Given the description of an element on the screen output the (x, y) to click on. 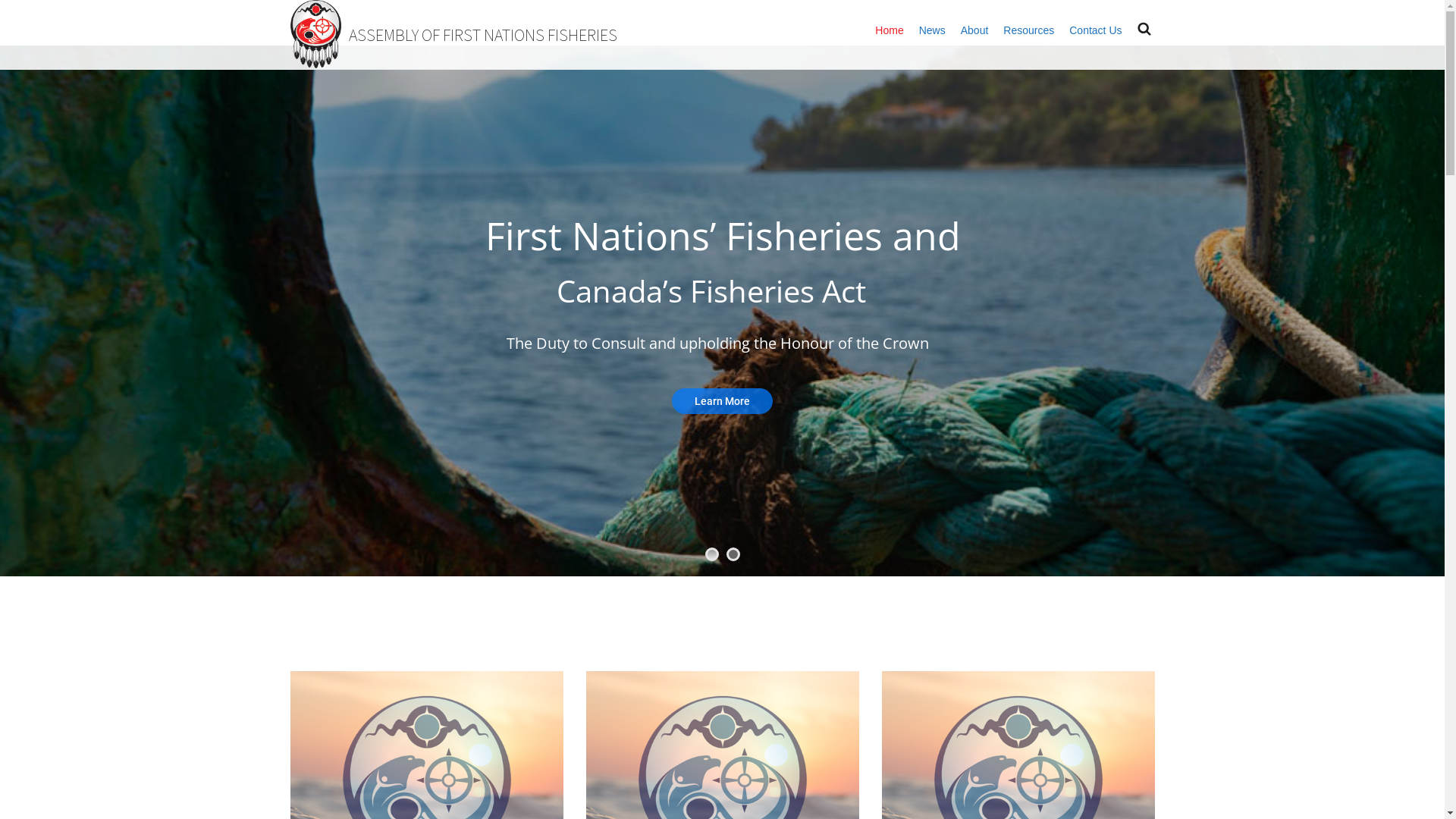
Home Element type: text (888, 30)
News Element type: text (932, 30)
Resources Element type: text (1028, 30)
Contact Us Element type: text (1095, 30)
About Element type: text (974, 30)
